Given the description of an element on the screen output the (x, y) to click on. 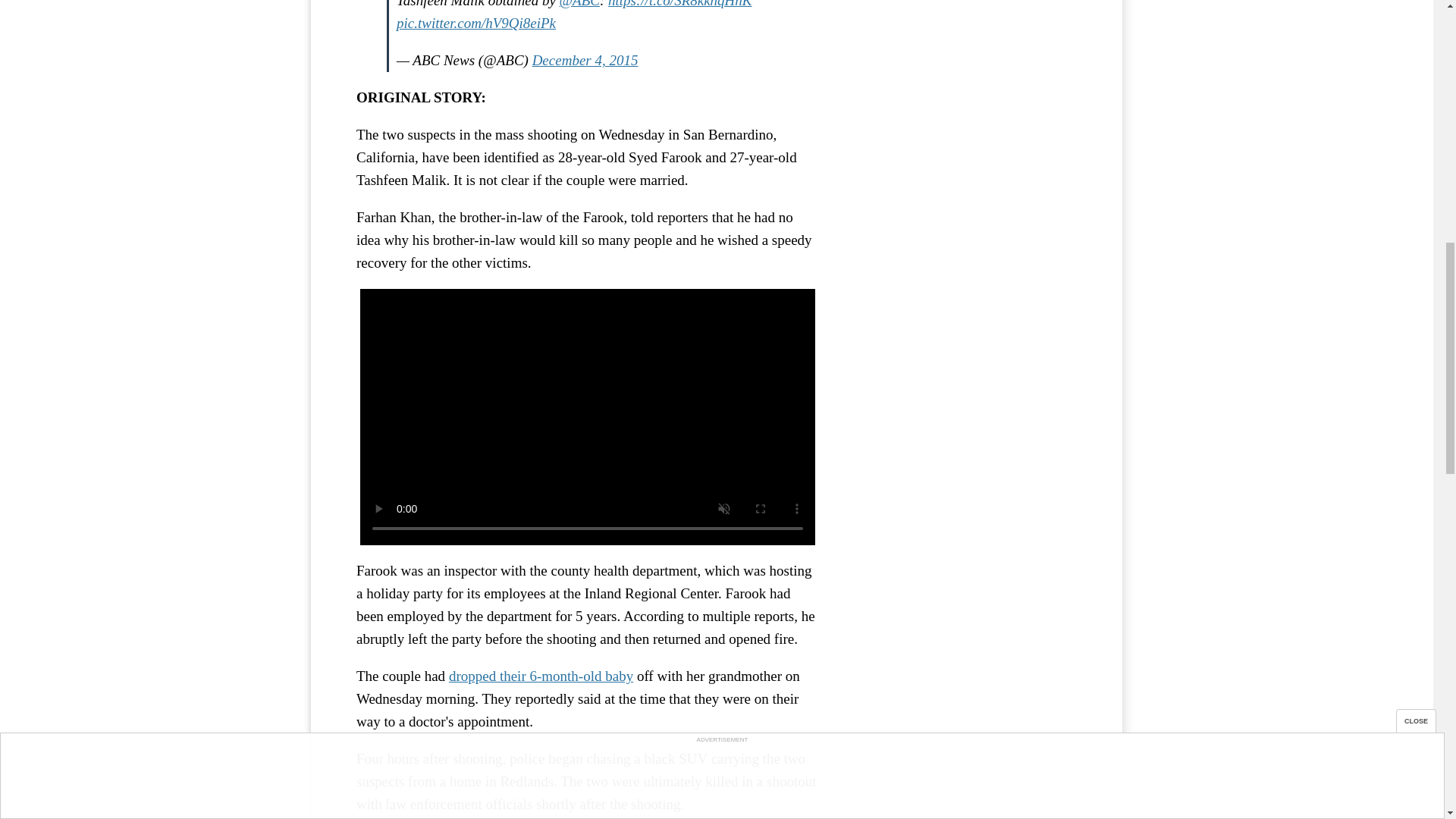
3rd party ad content (962, 62)
